Given the description of an element on the screen output the (x, y) to click on. 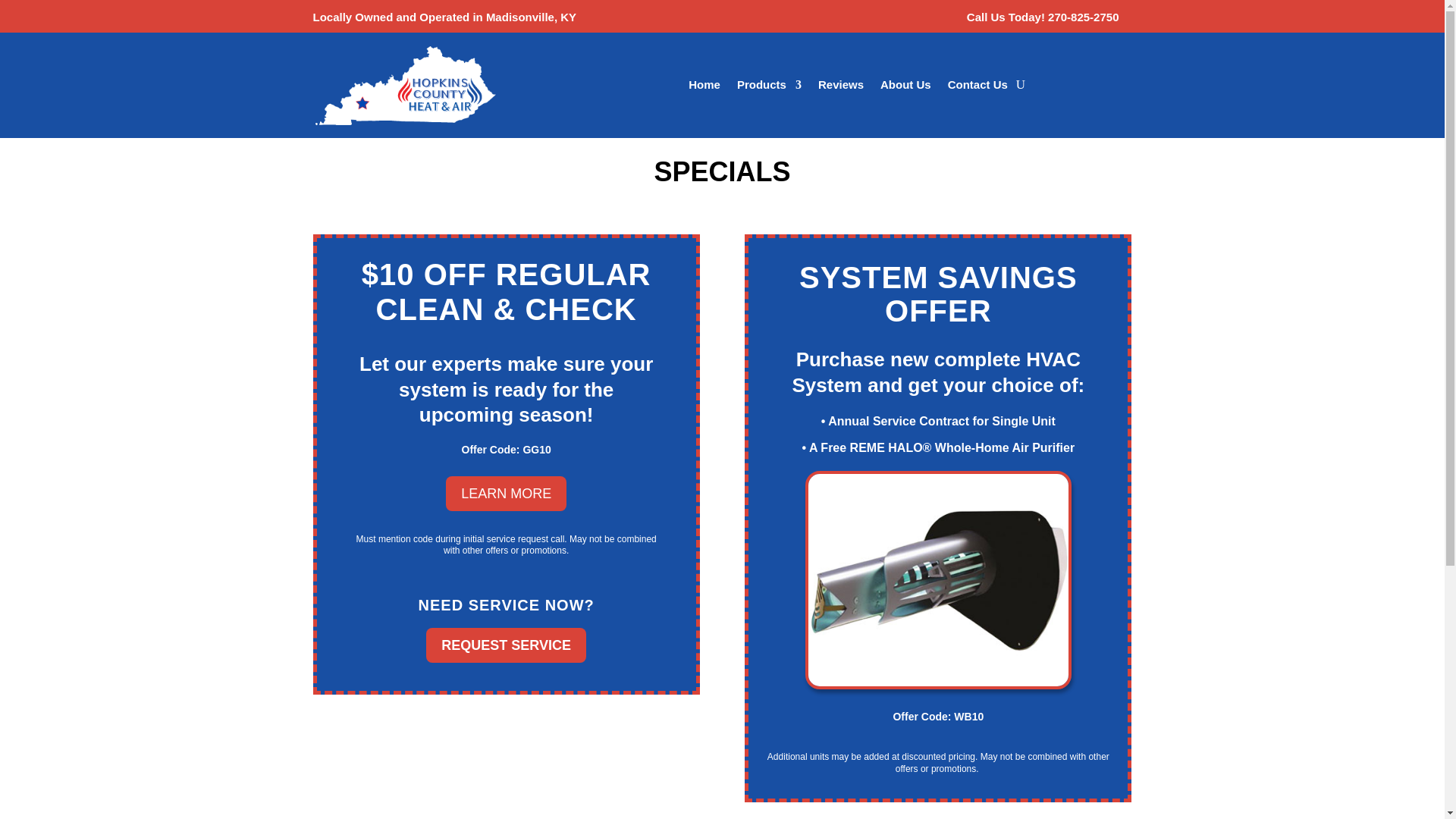
About Us (905, 86)
Contact Us (977, 86)
Call Us Today! 270-825-2750 (1042, 16)
REME-HALO (938, 580)
Home (704, 86)
Products (769, 86)
Reviews (840, 86)
